Given the description of an element on the screen output the (x, y) to click on. 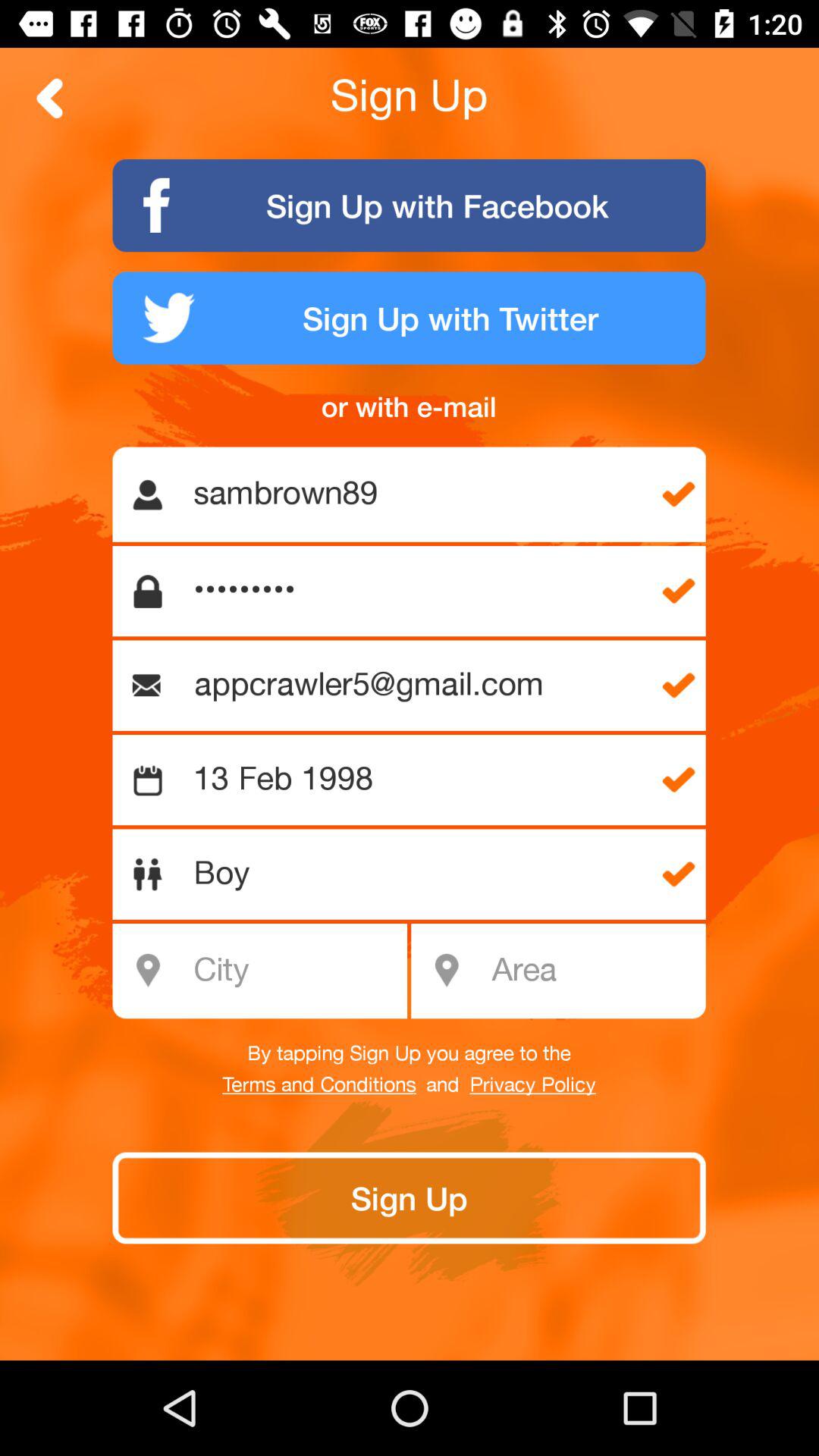
click crowd3116 item (417, 591)
